Given the description of an element on the screen output the (x, y) to click on. 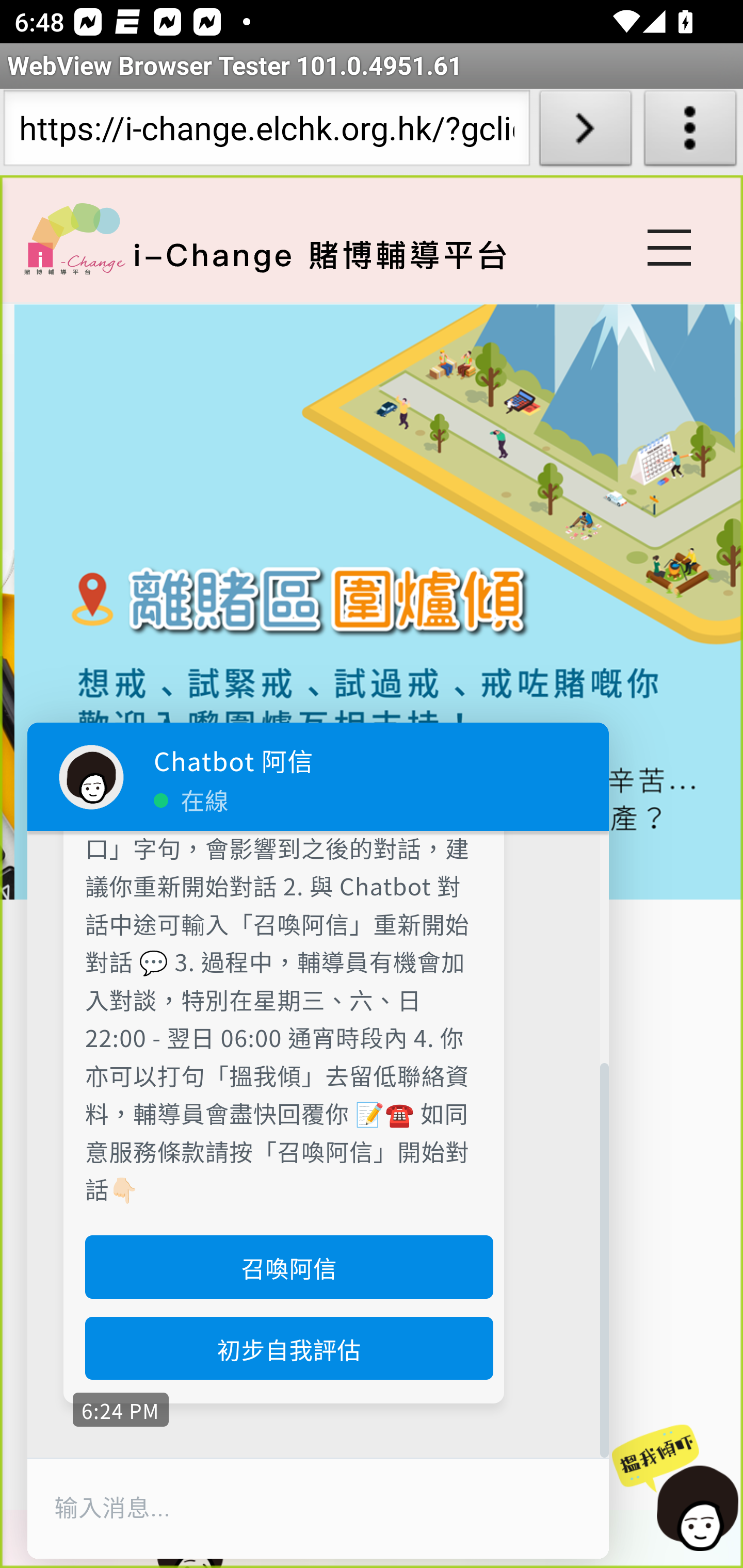
Load URL (585, 132)
About WebView (690, 132)
Home (74, 238)
Chat Now (676, 1488)
